Given the description of an element on the screen output the (x, y) to click on. 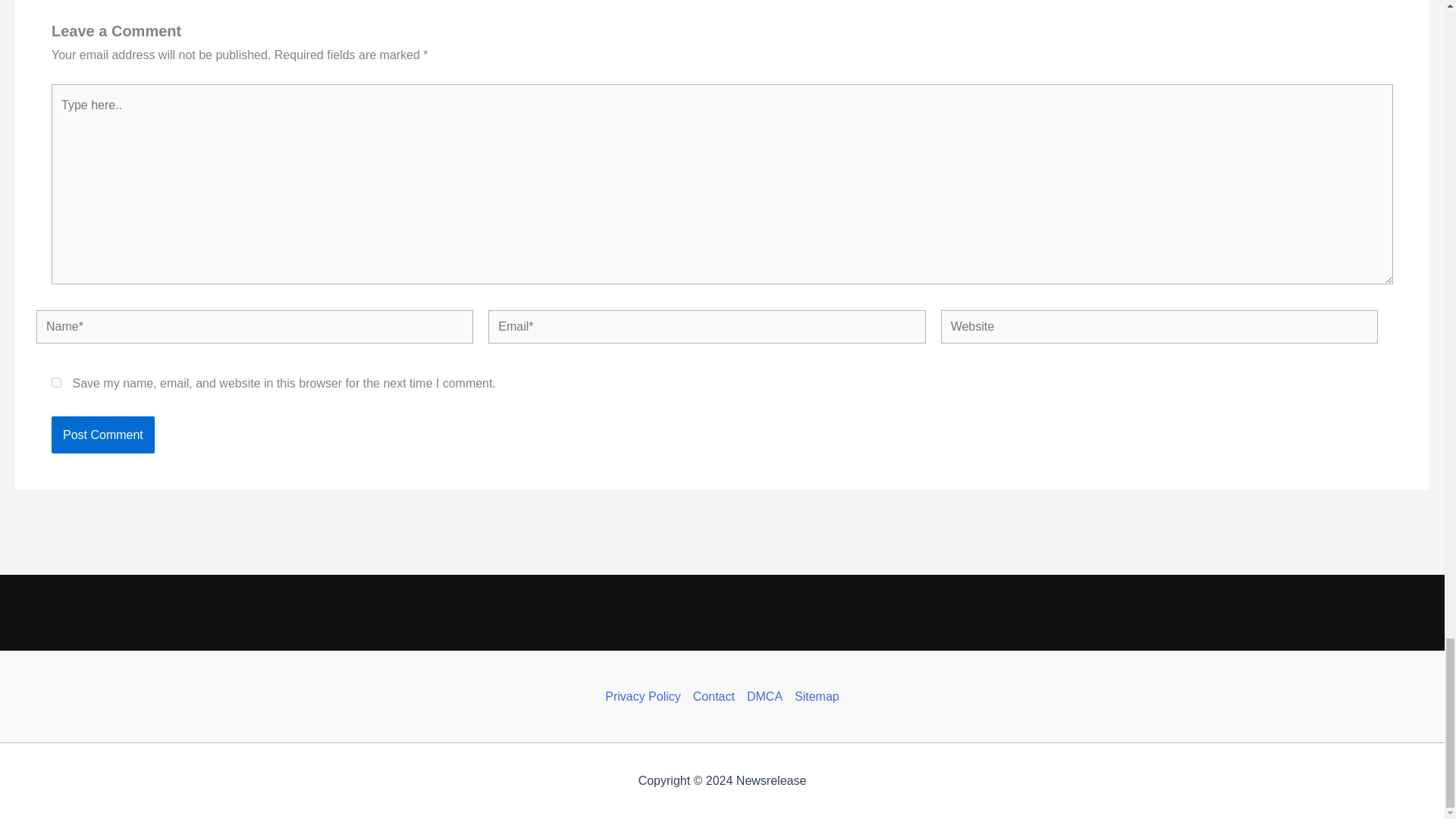
Post Comment (102, 435)
Privacy Policy (646, 696)
Contact (714, 696)
Post Comment (102, 435)
Sitemap (814, 696)
yes (55, 382)
DMCA (765, 696)
